Given the description of an element on the screen output the (x, y) to click on. 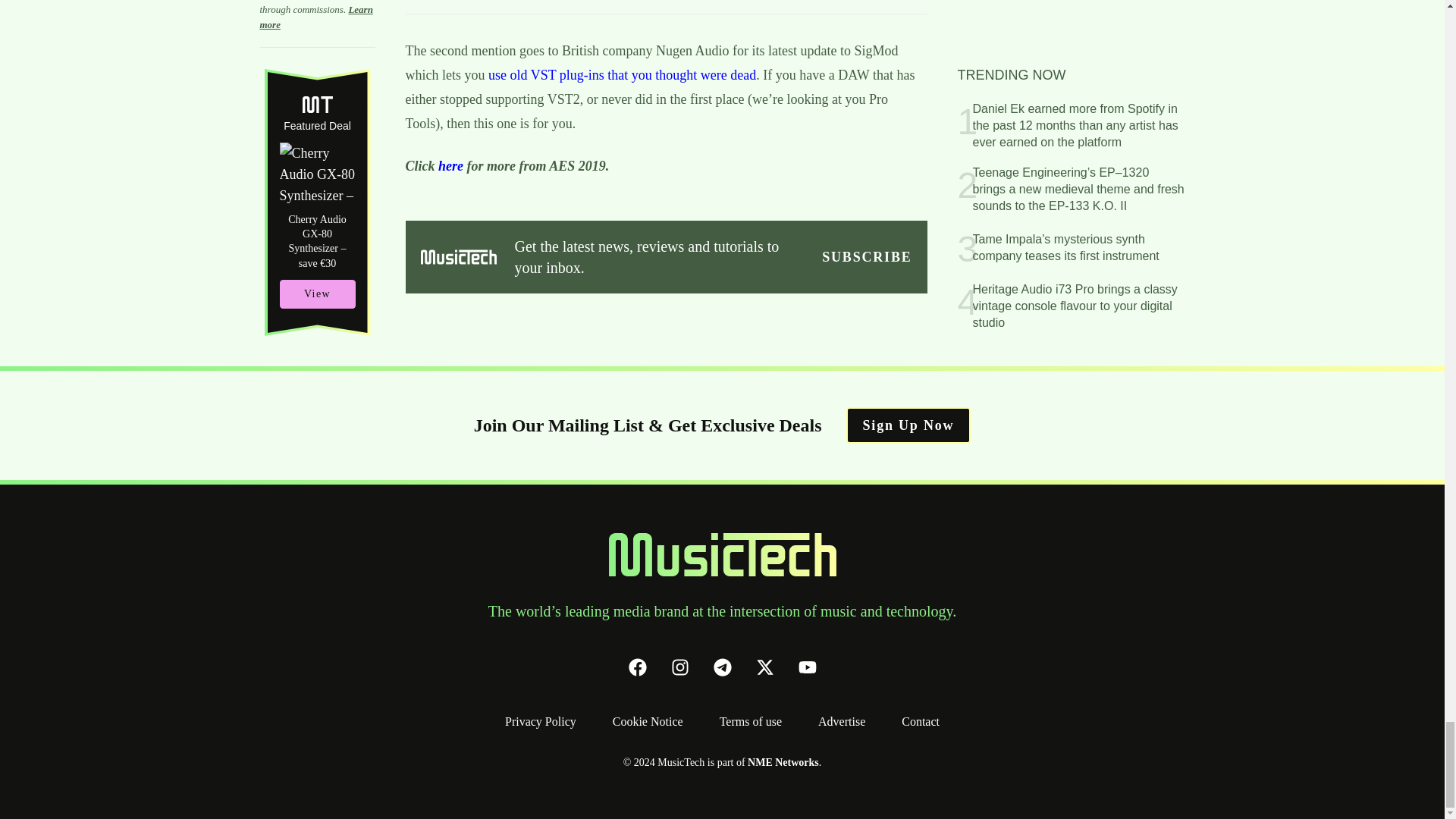
Join our mailing list (866, 256)
use old VST plug-ins that you thought were dead (621, 74)
here (450, 165)
